Given the description of an element on the screen output the (x, y) to click on. 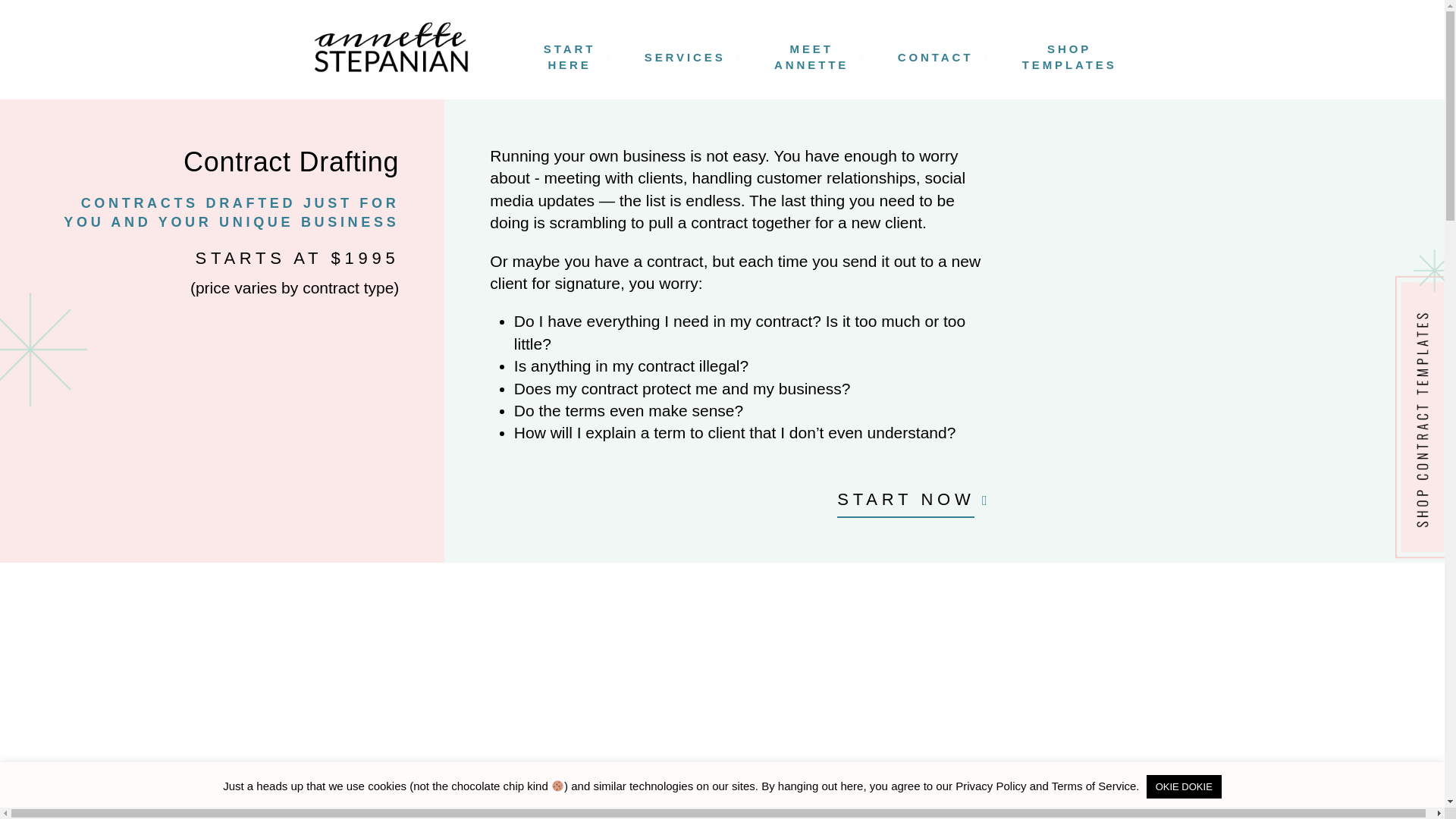
SERVICES (684, 56)
START NOW (905, 503)
CONTACT (1069, 56)
